Given the description of an element on the screen output the (x, y) to click on. 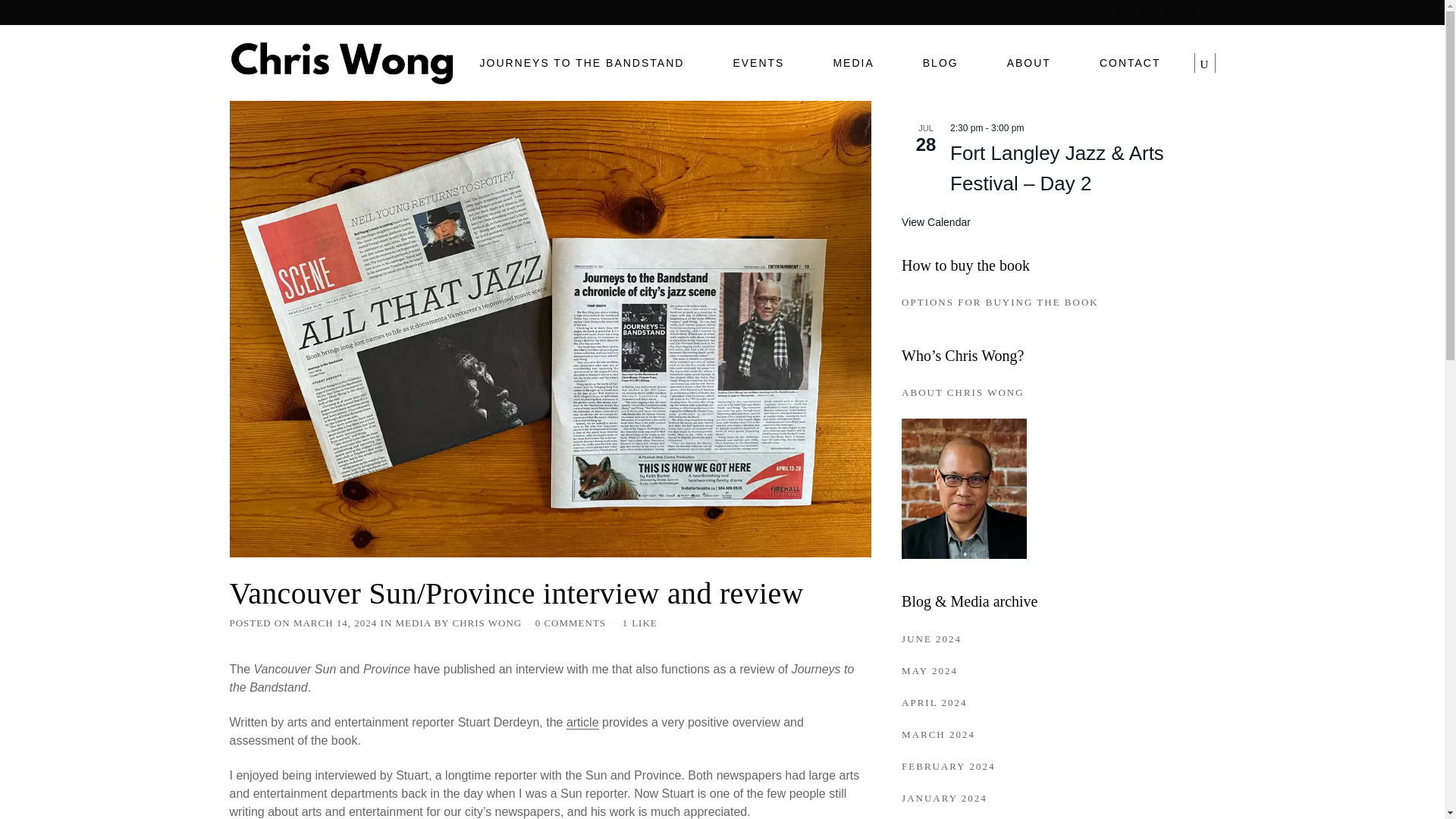
View Calendar (936, 222)
CONTACT (1130, 62)
article (582, 722)
CHRIS WONG (487, 622)
MEDIA (853, 62)
1 LIKE (640, 623)
View more events. (936, 222)
BLOG (940, 62)
MEDIA (413, 622)
JOURNEYS TO THE BANDSTAND (580, 62)
0 COMMENTS (570, 622)
Like this (640, 623)
EVENTS (757, 62)
ABOUT (1028, 62)
